Given the description of an element on the screen output the (x, y) to click on. 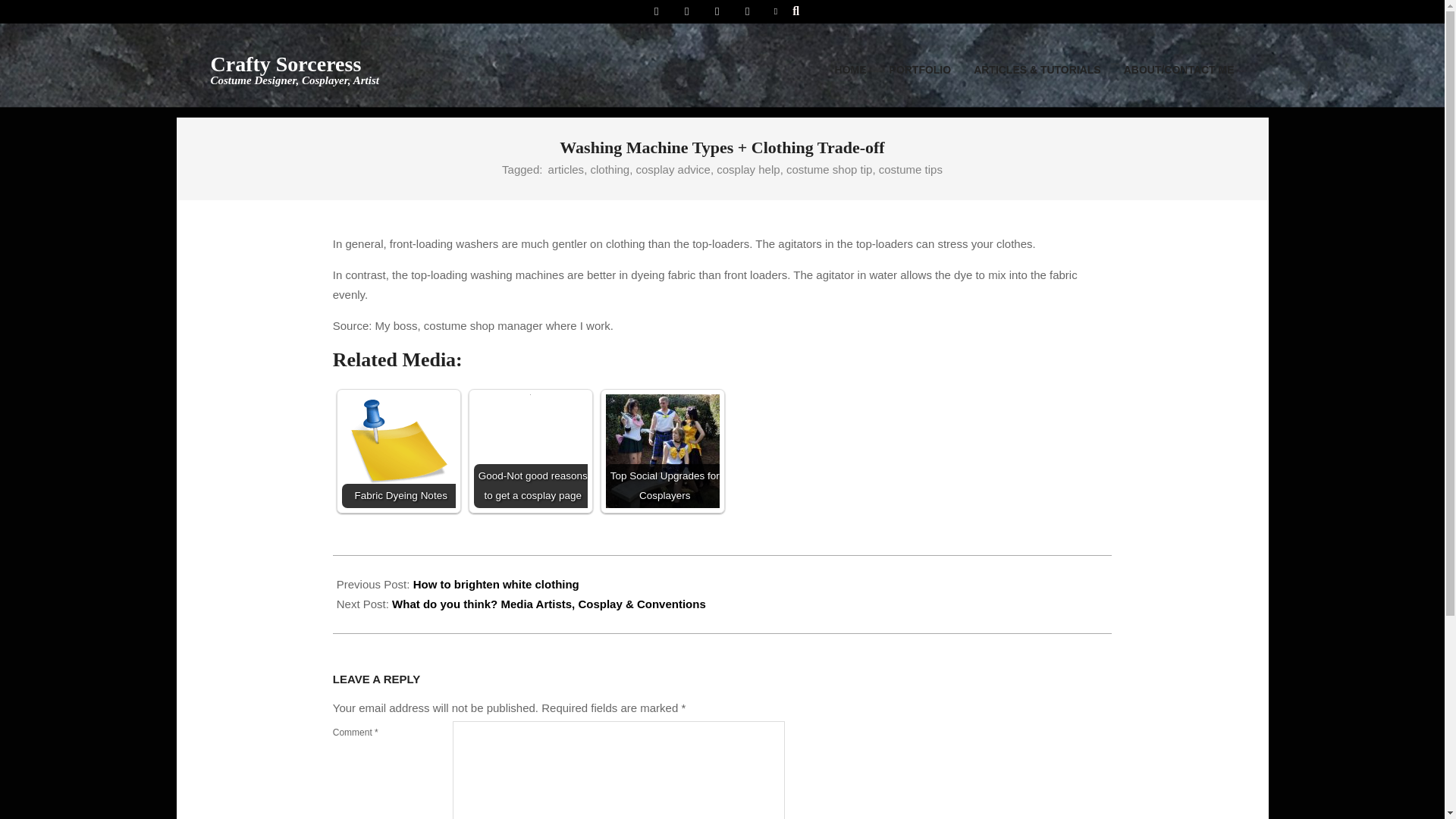
PORTFOLIO (919, 70)
clothing (608, 169)
articles (566, 169)
HOME (294, 70)
How to brighten white clothing (850, 70)
Top Social Upgrades for Cosplayers (496, 584)
costume shop tip (662, 450)
costume tips (829, 169)
Good-Not good reasons to get a cosplay page (910, 169)
